Given the description of an element on the screen output the (x, y) to click on. 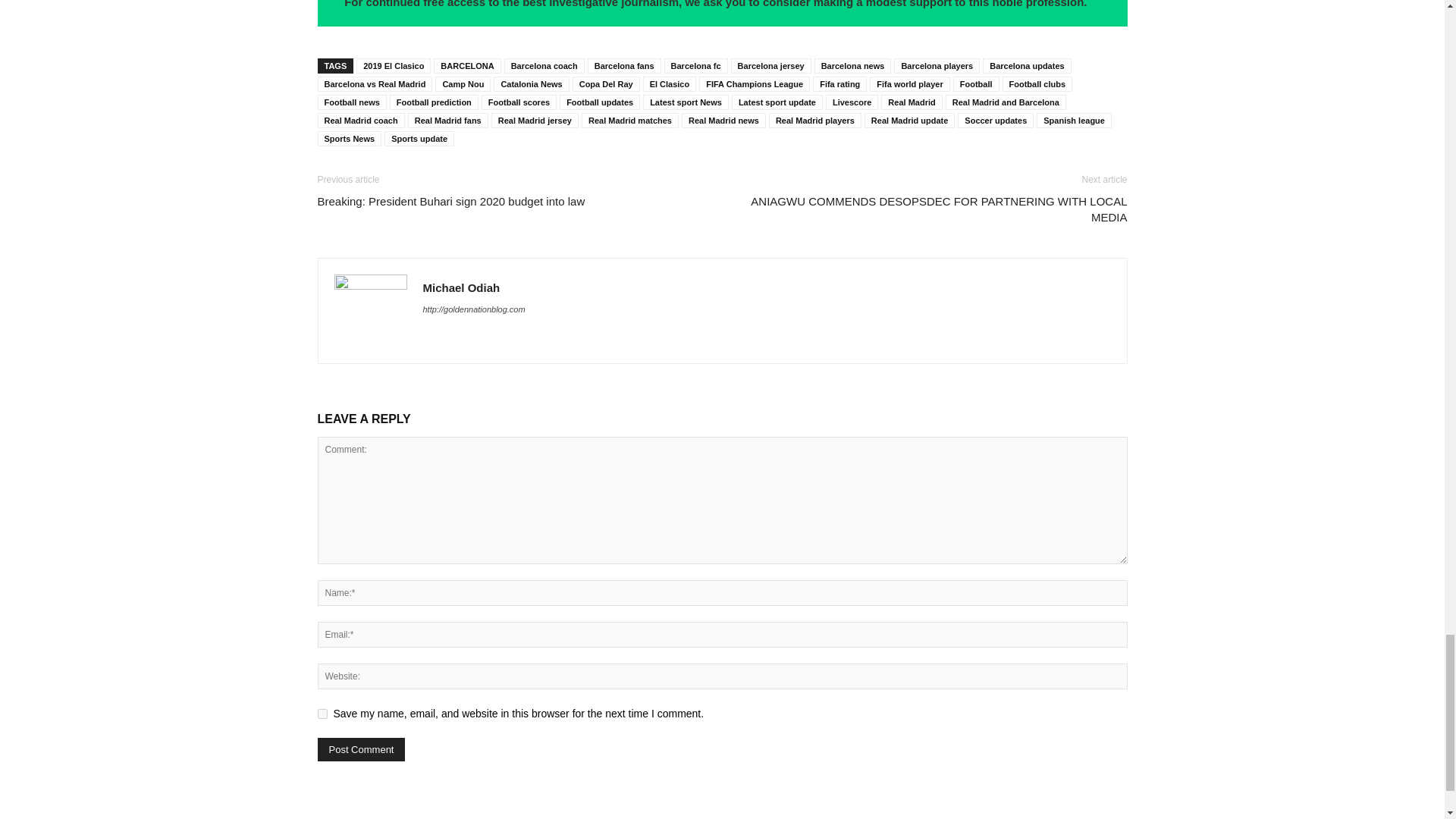
Football scores (518, 102)
Football (975, 83)
Post Comment (360, 749)
Barcelona players (936, 65)
Football prediction (434, 102)
Fifa rating (839, 83)
Copa Del Ray (606, 83)
Barcelona news (852, 65)
Latest sport News (686, 102)
2019 El Clasico (393, 65)
Barcelona jersey (770, 65)
Football clubs (1038, 83)
El Clasico (670, 83)
Barcelona coach (544, 65)
Barcelona fc (695, 65)
